Given the description of an element on the screen output the (x, y) to click on. 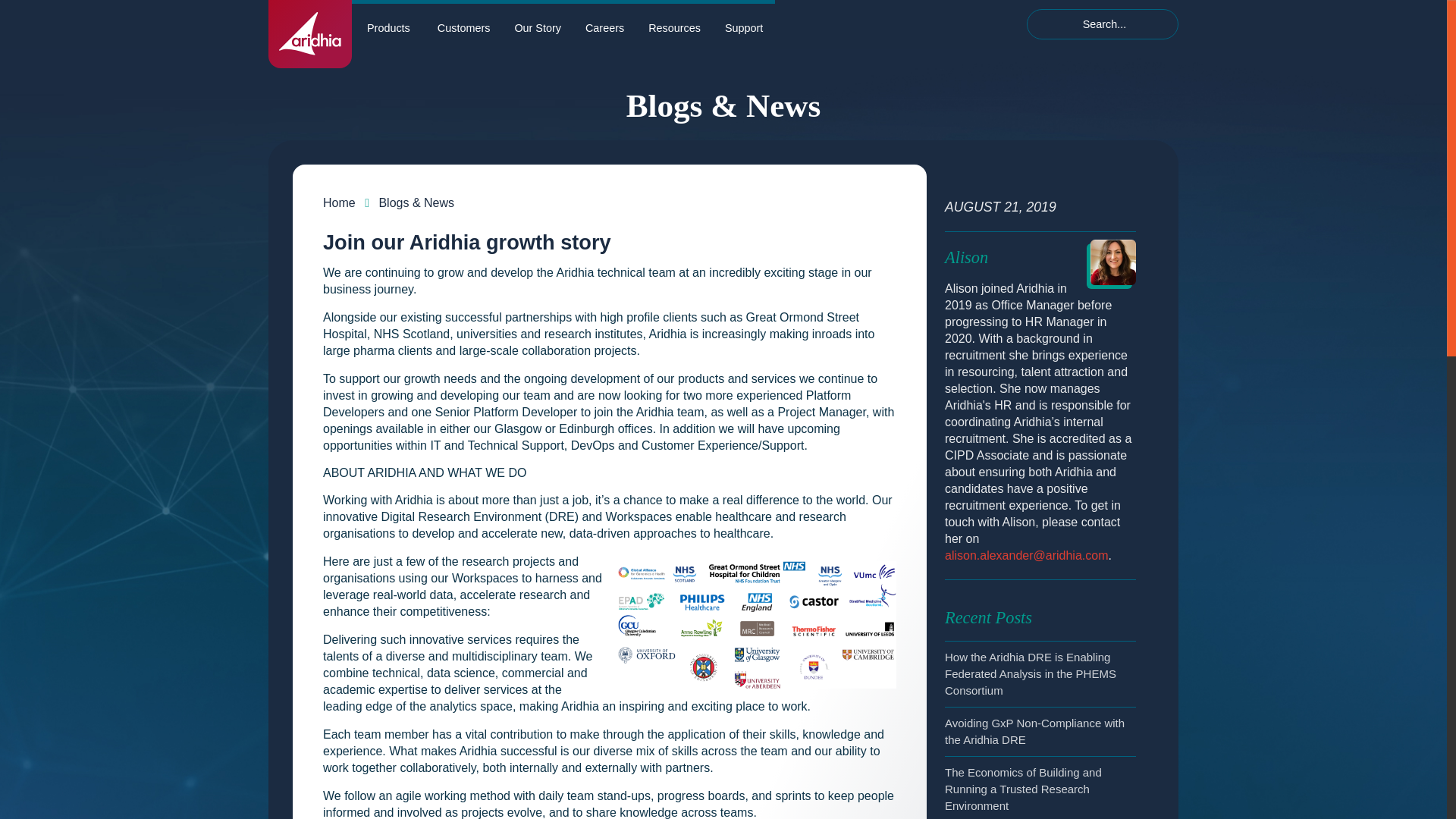
Customers (463, 24)
Support (743, 24)
Resources (674, 24)
Careers (604, 24)
Products (388, 24)
Avoiding GxP Non-Compliance with the Aridhia DRE (1034, 731)
Home (339, 202)
home (309, 33)
Our Story (537, 24)
